Given the description of an element on the screen output the (x, y) to click on. 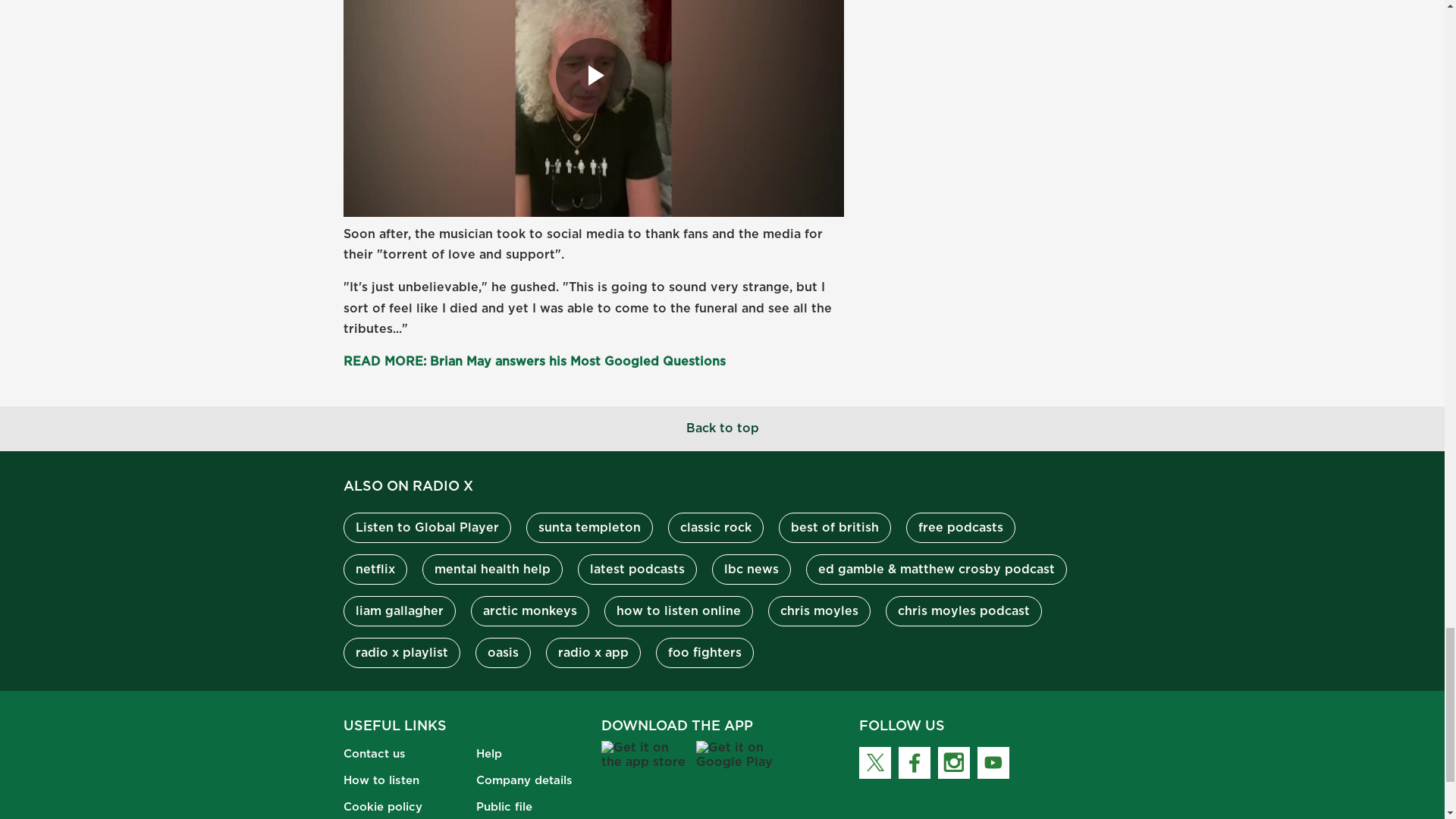
Follow RadioX on Facebook (914, 762)
READ MORE: Brian May answers his Most Googled Questions (533, 361)
Back to top (721, 428)
Follow RadioX on Instagram (953, 762)
Follow RadioX on Youtube (992, 762)
Follow RadioX on X (874, 762)
